Given the description of an element on the screen output the (x, y) to click on. 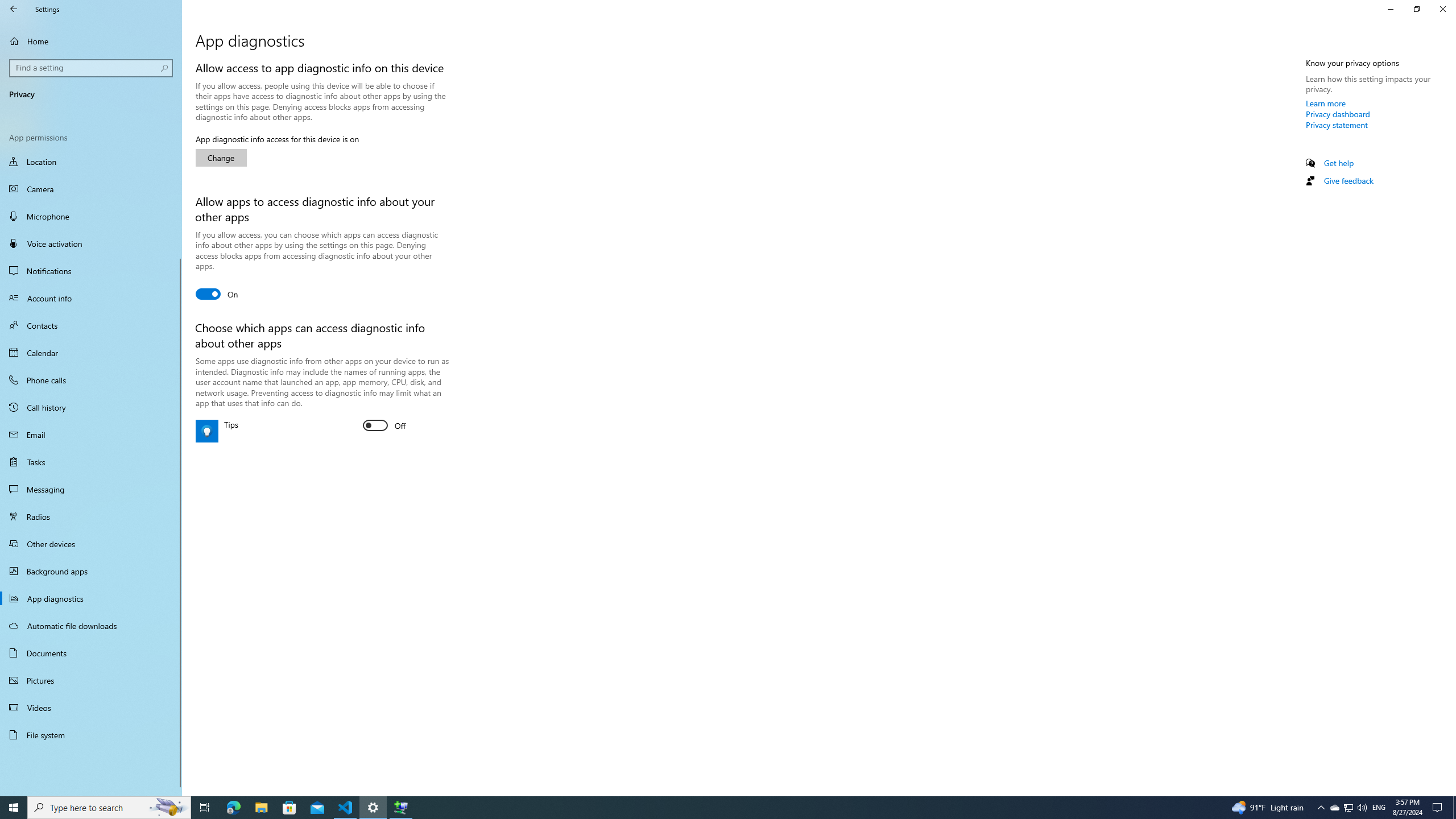
Email (91, 433)
Search box, Find a setting (91, 67)
Learn more (1326, 102)
Visual Studio Code - 1 running window (1347, 807)
Minimize Settings (345, 807)
File system (1390, 9)
Search highlights icon opens search home window (91, 734)
Videos (167, 807)
Call history (91, 707)
Settings - 1 running window (91, 406)
Privacy statement (373, 807)
App diagnostics (1336, 124)
